Given the description of an element on the screen output the (x, y) to click on. 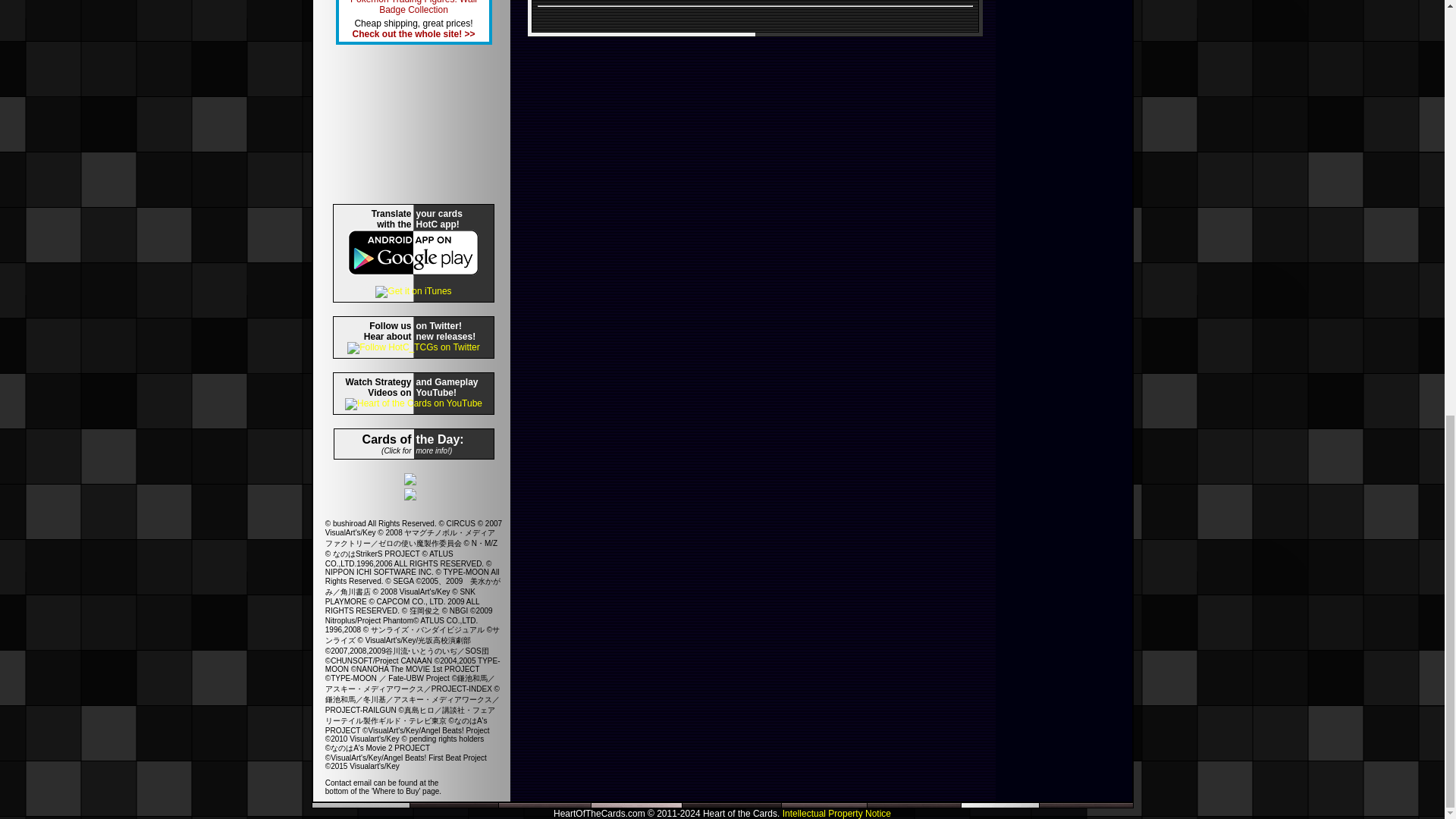
pending rights holders (446, 738)
Bushiroad English Blog (410, 481)
Advertisement (413, 123)
Hammergirl Anime (410, 495)
